Given the description of an element on the screen output the (x, y) to click on. 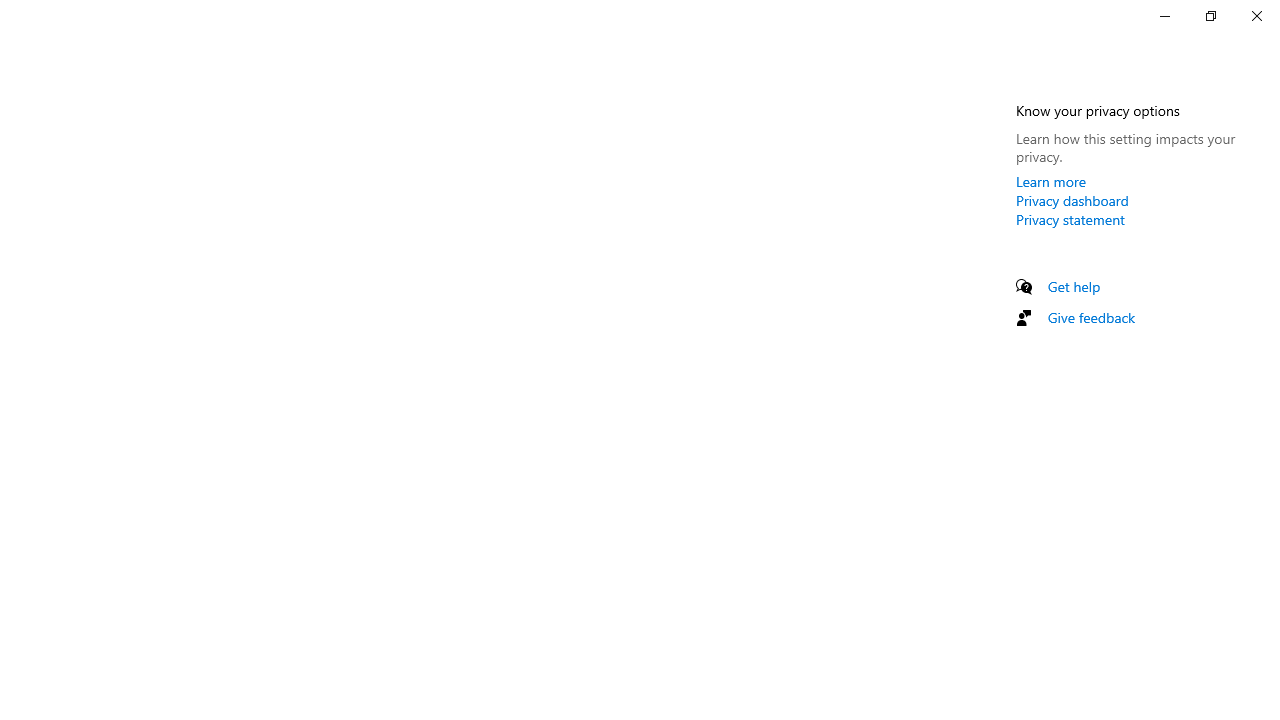
Privacy statement (1070, 219)
Minimize Settings (1164, 15)
Restore Settings (1210, 15)
Give feedback (1091, 317)
Close Settings (1256, 15)
Privacy dashboard (1072, 200)
Get help (1074, 286)
Learn more (1051, 181)
